Given the description of an element on the screen output the (x, y) to click on. 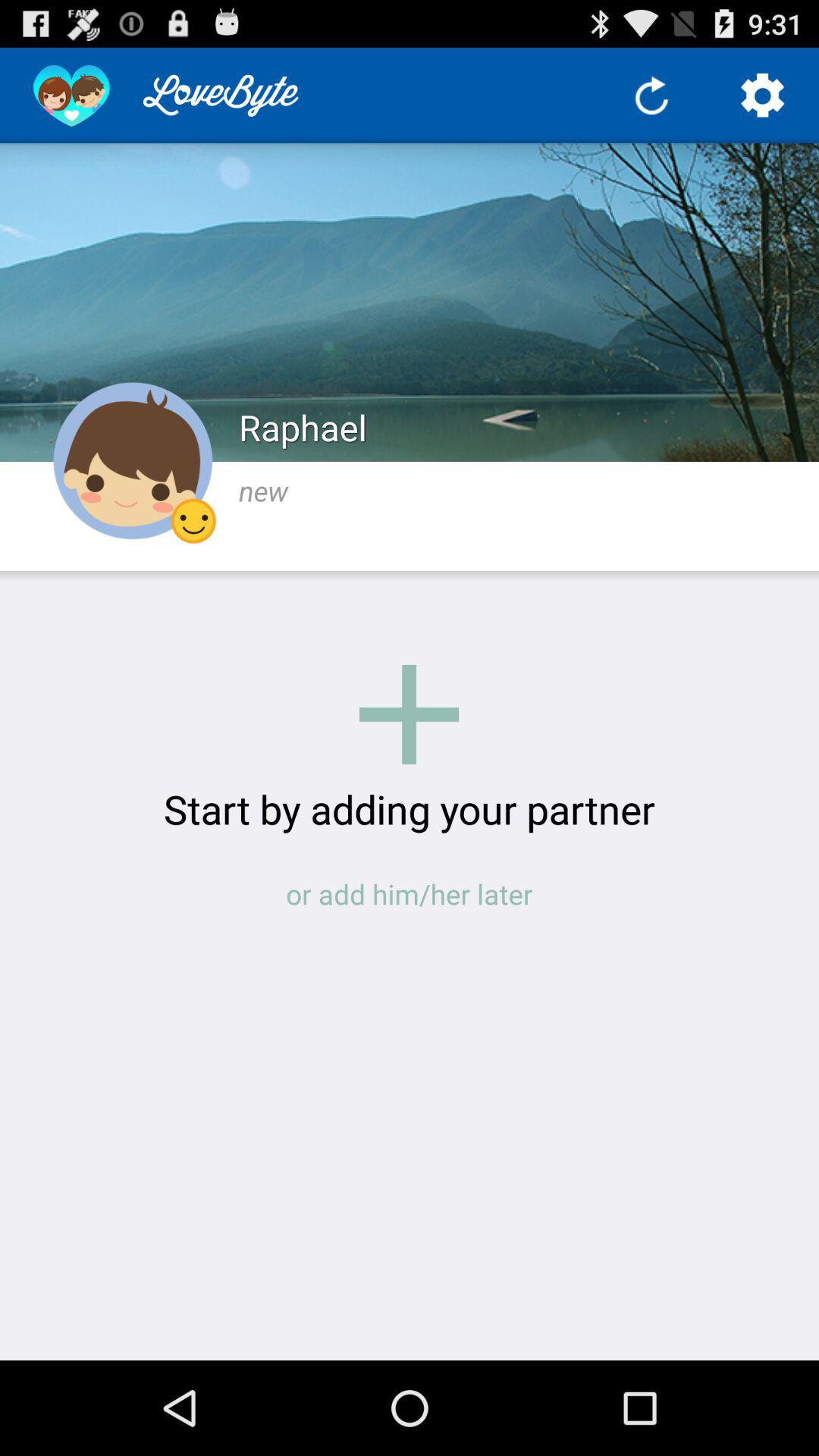
launch item above the start by adding app (408, 714)
